Given the description of an element on the screen output the (x, y) to click on. 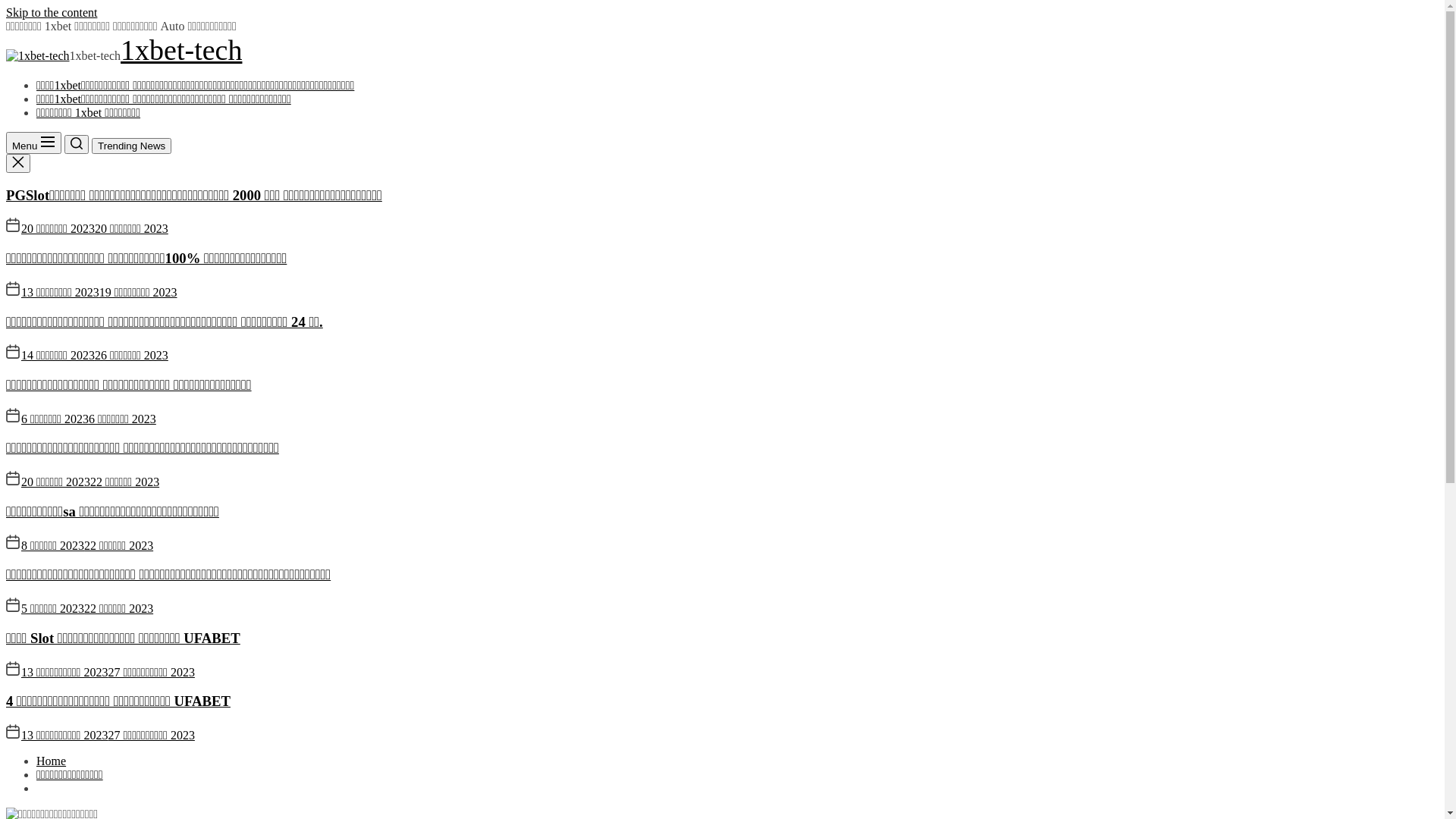
Trending News Element type: text (131, 145)
Menu Element type: text (33, 142)
1xbet-tech Element type: text (180, 49)
Skip to the content Element type: text (51, 12)
Home Element type: text (50, 760)
